Given the description of an element on the screen output the (x, y) to click on. 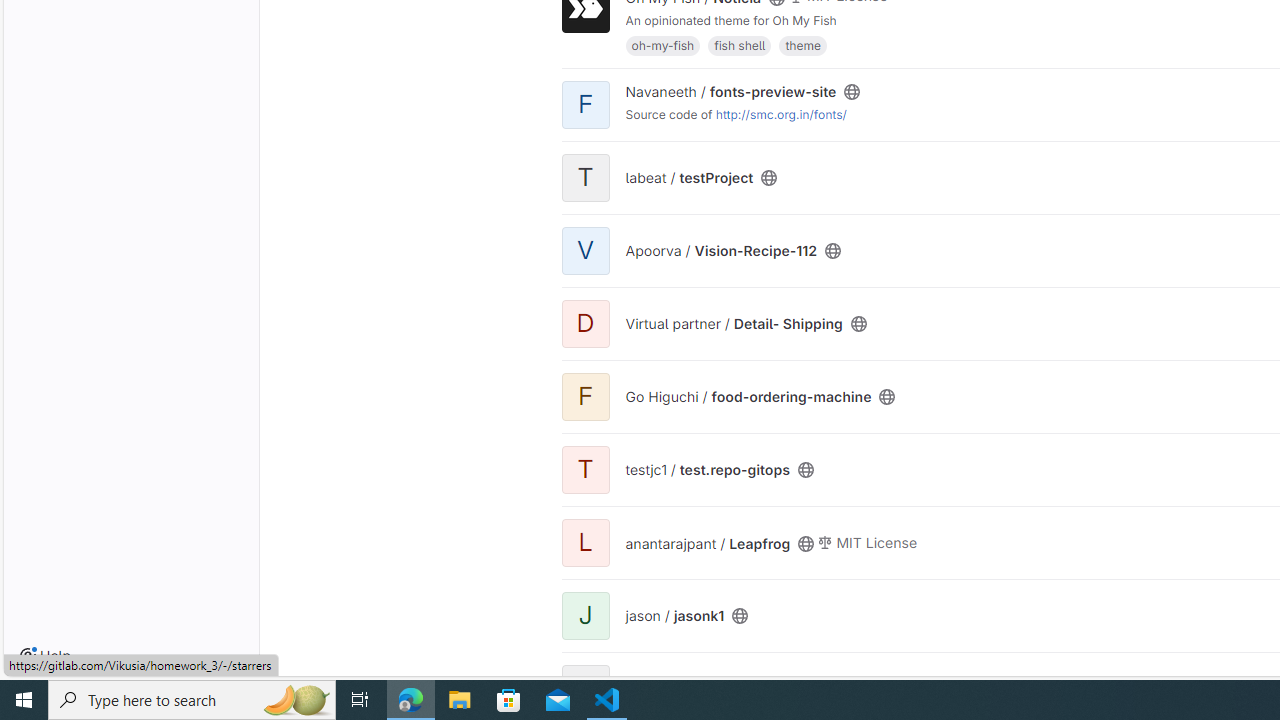
testjc1 / test.repo-gitops (706, 469)
L (585, 542)
oh-my-fish (662, 43)
anantarajpant / Leapfrog (707, 543)
labeat / testProject (688, 178)
V (585, 250)
F (585, 396)
Class: s16 (740, 615)
Go Higuchi / food-ordering-machine (747, 397)
theme (802, 43)
Help (45, 655)
Navaneeth / fonts-preview-site (730, 91)
Apoorva / Vision-Recipe-112 (720, 250)
Virtual partner / Detail- Shipping (733, 323)
J (585, 615)
